Given the description of an element on the screen output the (x, y) to click on. 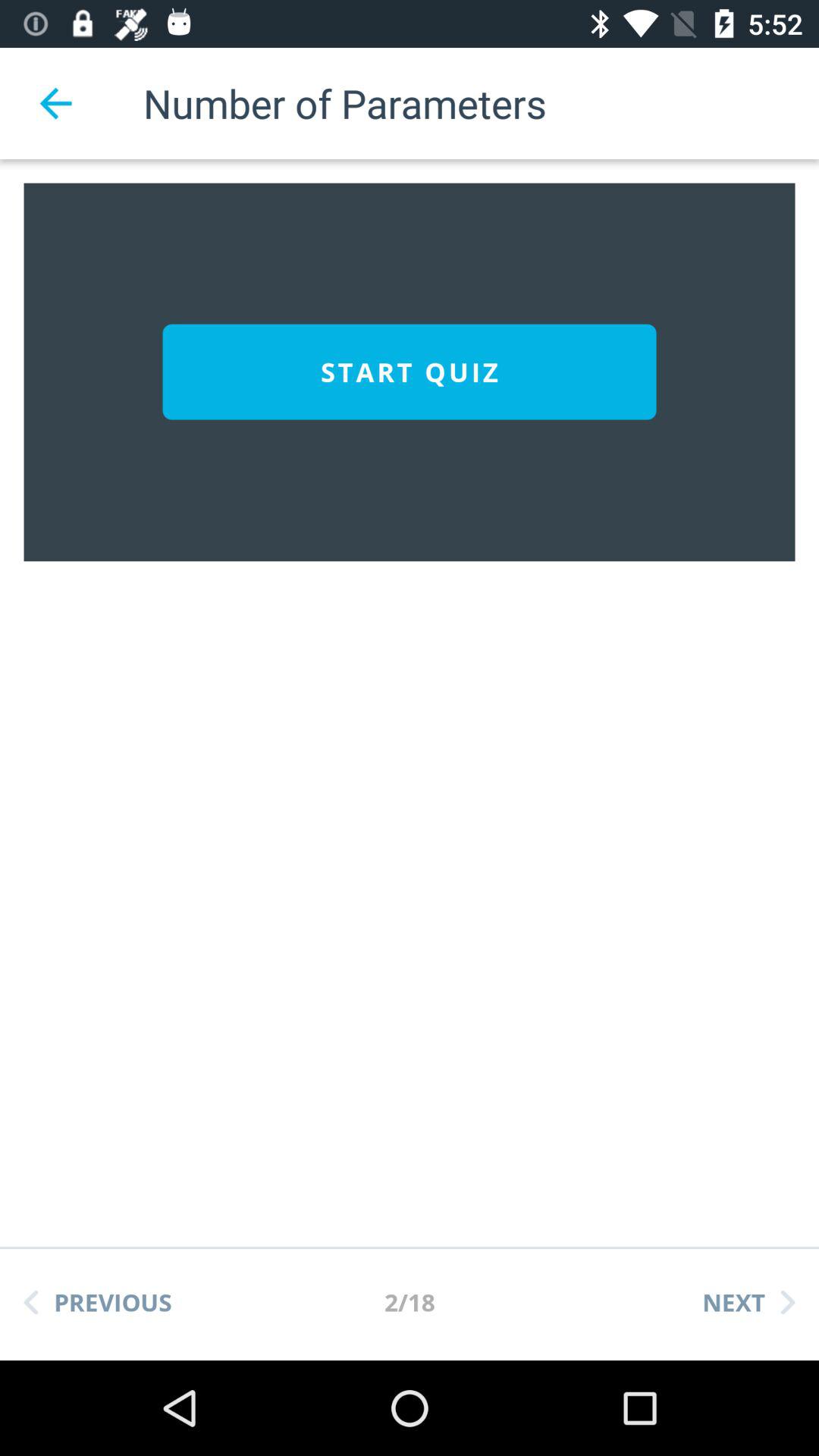
select the icon next to number of parameters (55, 103)
